Given the description of an element on the screen output the (x, y) to click on. 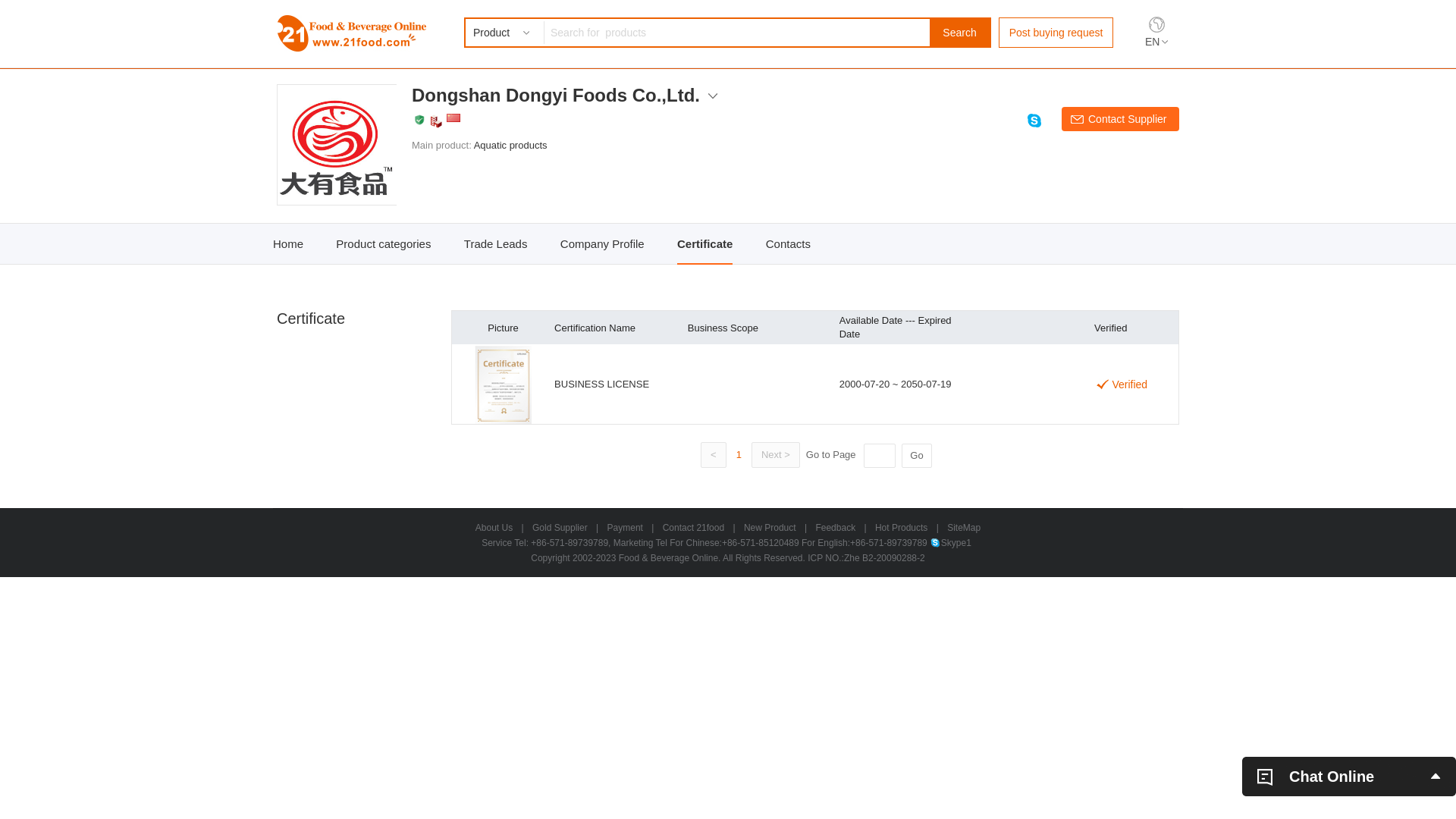
Contacts Element type: text (787, 243)
Hot Products Element type: text (901, 527)
Post buying request Element type: text (1055, 32)
Feedback Element type: text (835, 527)
About Us Element type: text (493, 527)
Contact 21food Element type: text (693, 527)
Company Profile Element type: text (602, 243)
Search Element type: text (959, 32)
New Product Element type: text (769, 527)
SiteMap Element type: text (963, 527)
Skype1 Element type: text (950, 542)
EN Element type: text (1156, 41)
Gold Supplier Element type: text (559, 527)
Contact Supplier Element type: text (1120, 118)
Trade Leads Element type: text (495, 243)
Certificate Element type: text (704, 244)
Manufacture Element type: hover (435, 120)
Go Element type: text (916, 455)
China Element type: hover (453, 117)
Home Element type: text (288, 243)
Product categories Element type: text (382, 243)
Payment Element type: text (625, 527)
